Given the description of an element on the screen output the (x, y) to click on. 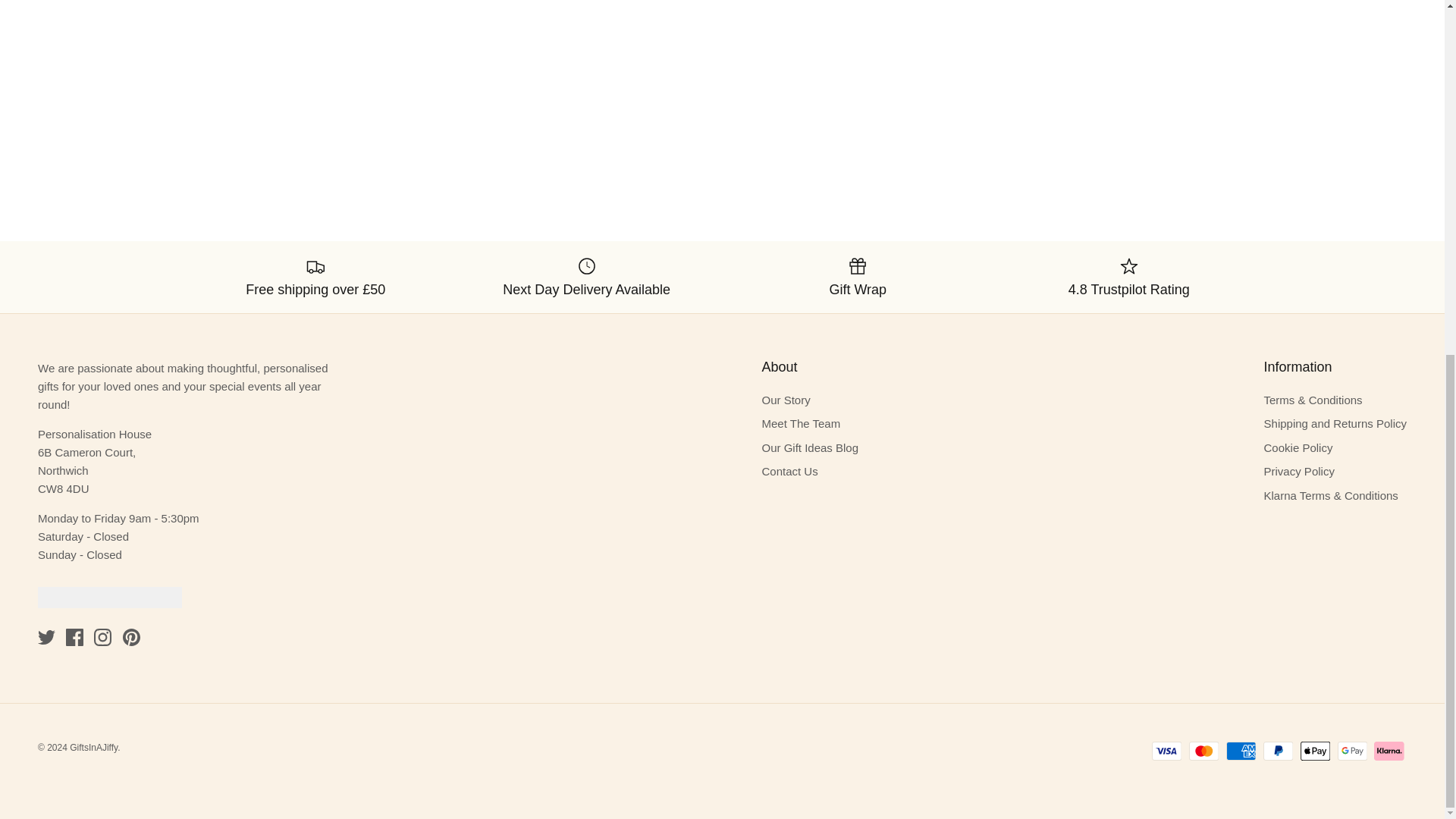
Google Pay (1352, 751)
Twitter (46, 637)
American Express (1240, 751)
Visa (1166, 751)
Instagram (103, 637)
Facebook (73, 637)
Pinterest (130, 637)
Klarna (1388, 751)
PayPal (1277, 751)
Apple Pay (1315, 751)
